Given the description of an element on the screen output the (x, y) to click on. 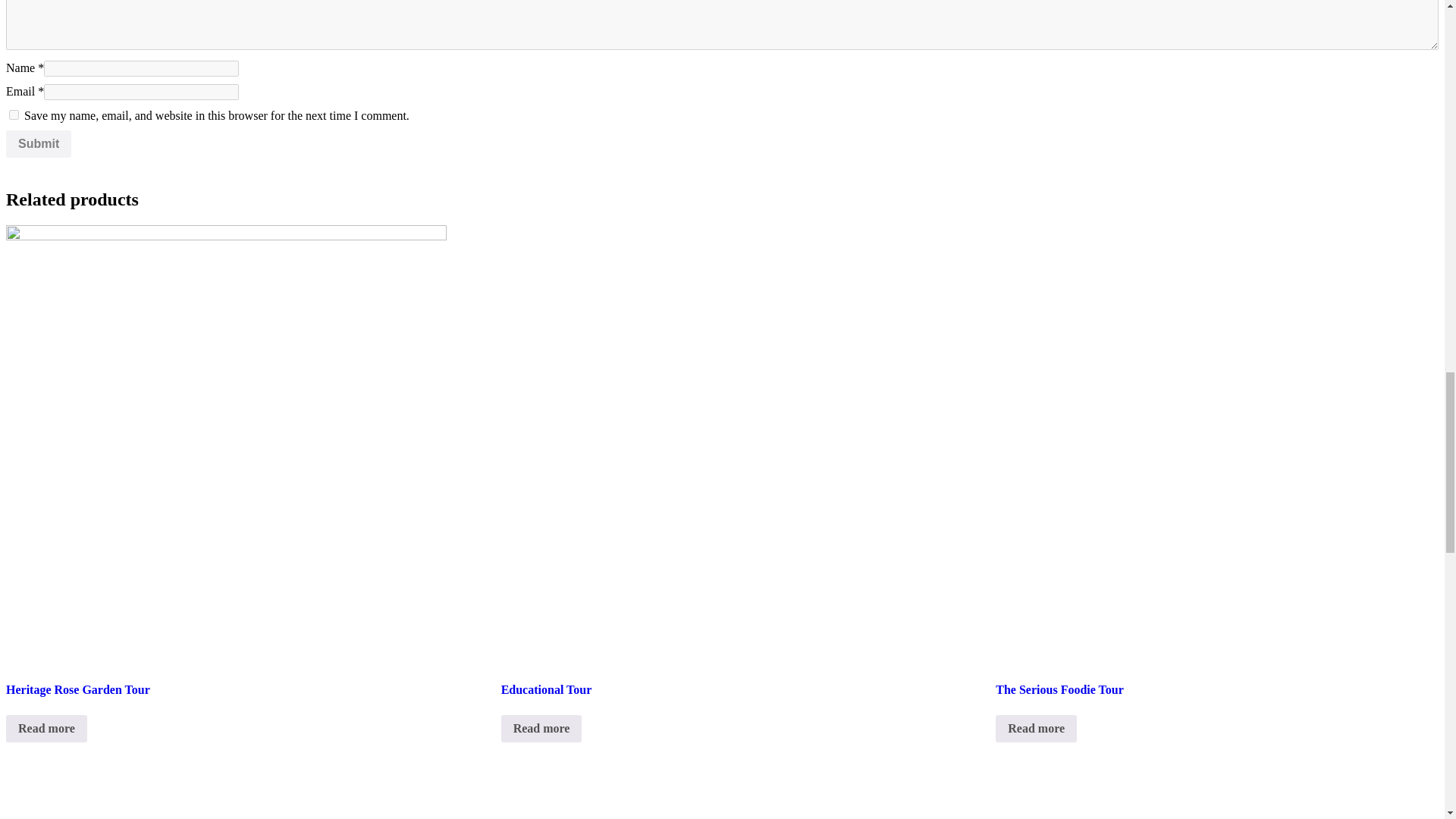
yes (13, 114)
Submit (38, 144)
Submit (38, 144)
